Given the description of an element on the screen output the (x, y) to click on. 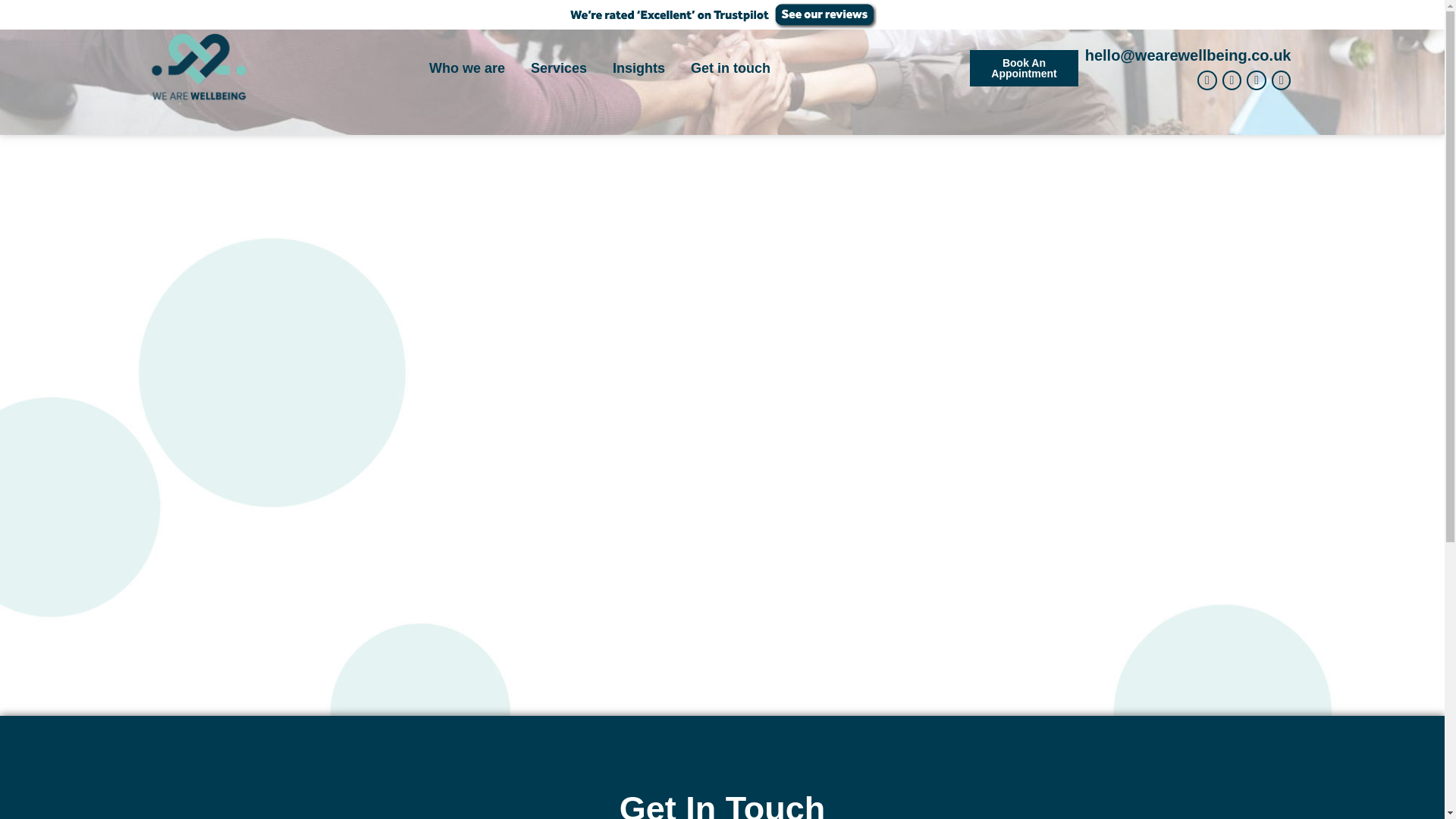
Insights (638, 68)
Services (558, 68)
Who we are (467, 68)
Get in touch (729, 68)
